Given the description of an element on the screen output the (x, y) to click on. 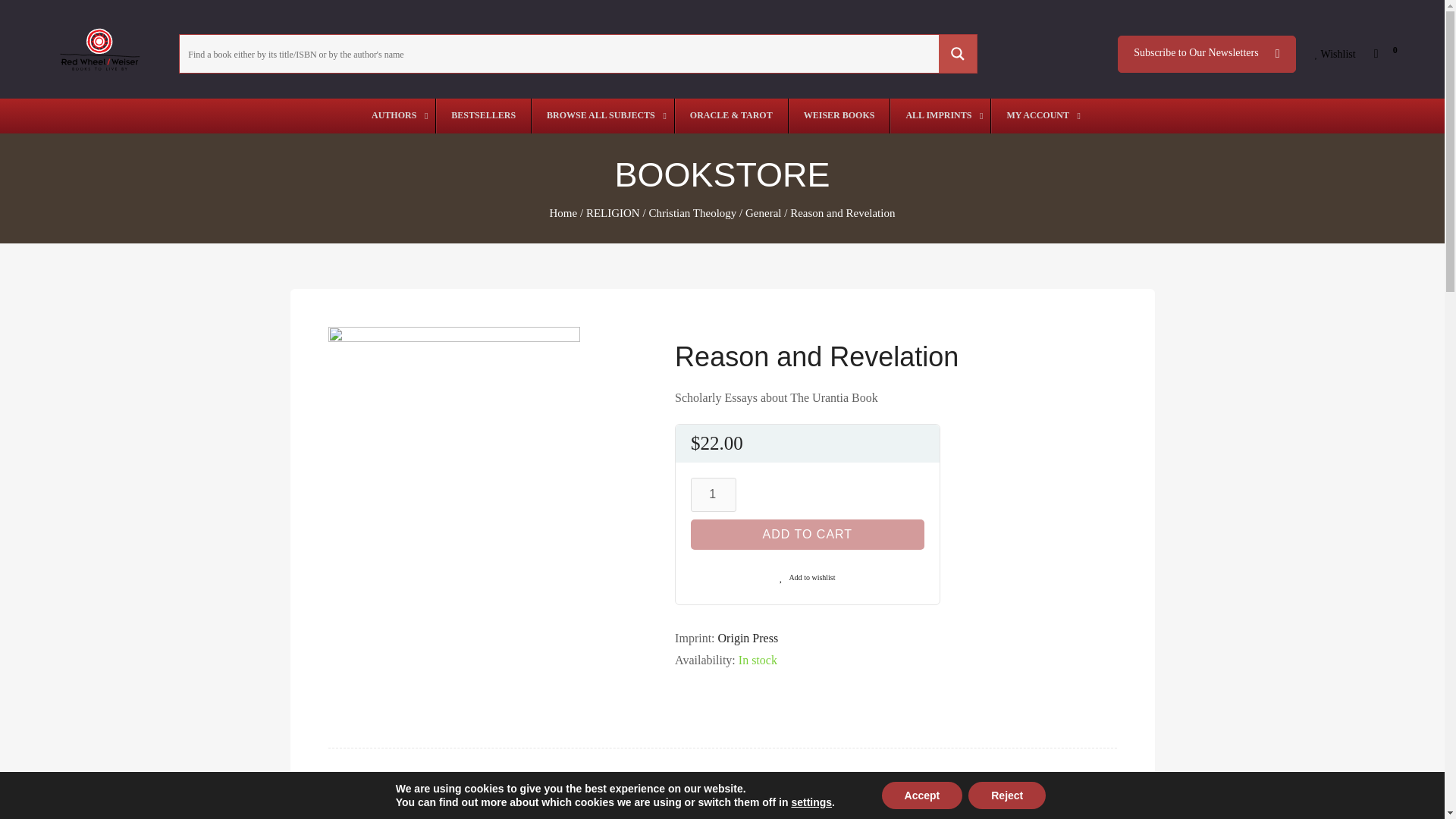
BROWSE ALL SUBJECTS (602, 115)
AUTHORS (395, 115)
BESTSELLERS (483, 115)
1 (713, 494)
Wishlist (1334, 54)
Subscribe to Our Newsletters (1206, 53)
